Given the description of an element on the screen output the (x, y) to click on. 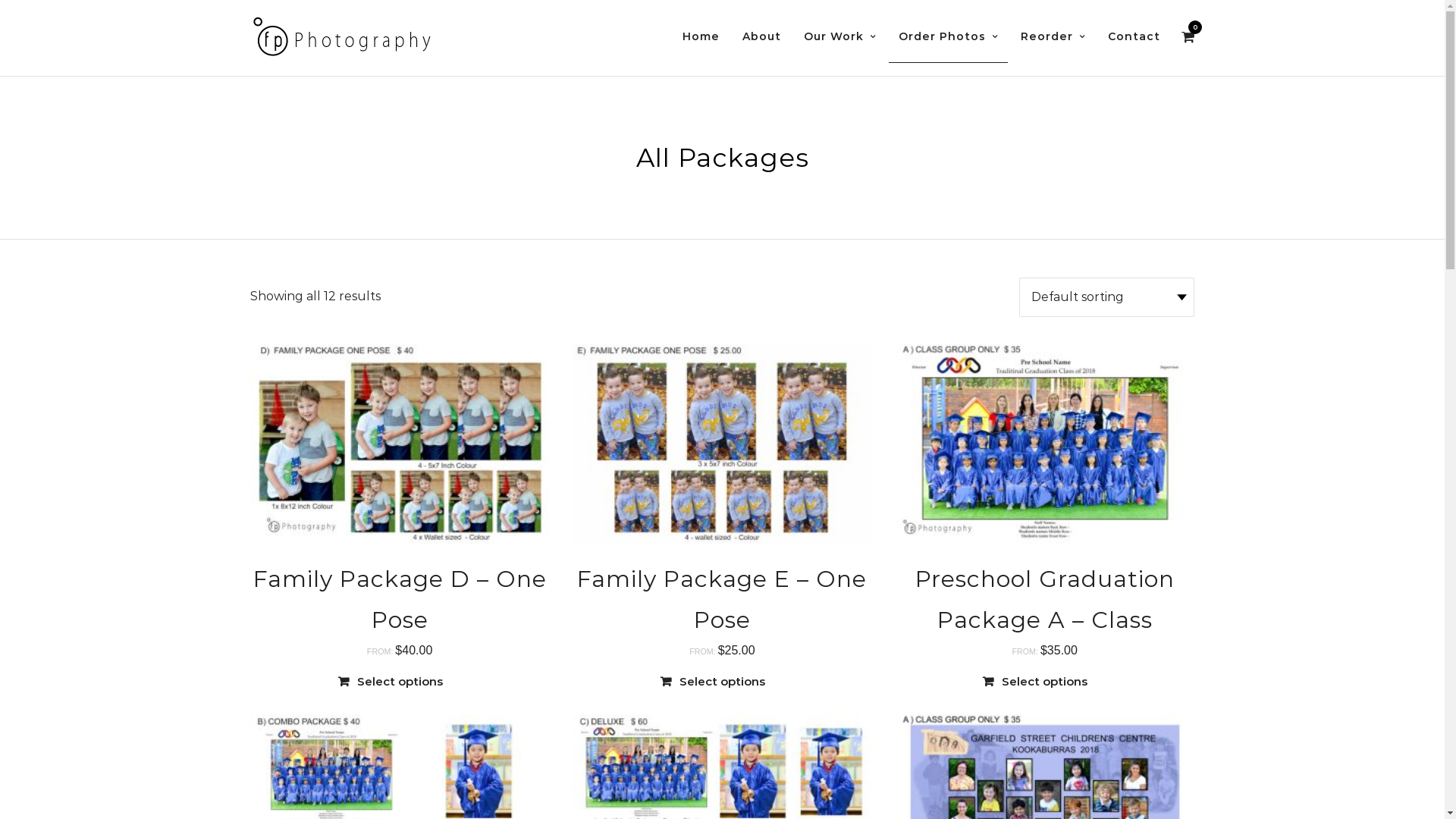
Order Photos Element type: text (947, 37)
Home Element type: text (700, 37)
Our Work Element type: text (839, 37)
About Element type: text (761, 37)
Select options Element type: text (399, 681)
Reorder Element type: text (1052, 37)
Select options Element type: text (721, 681)
Contact Element type: text (1134, 37)
Select options Element type: text (1044, 681)
